Given the description of an element on the screen output the (x, y) to click on. 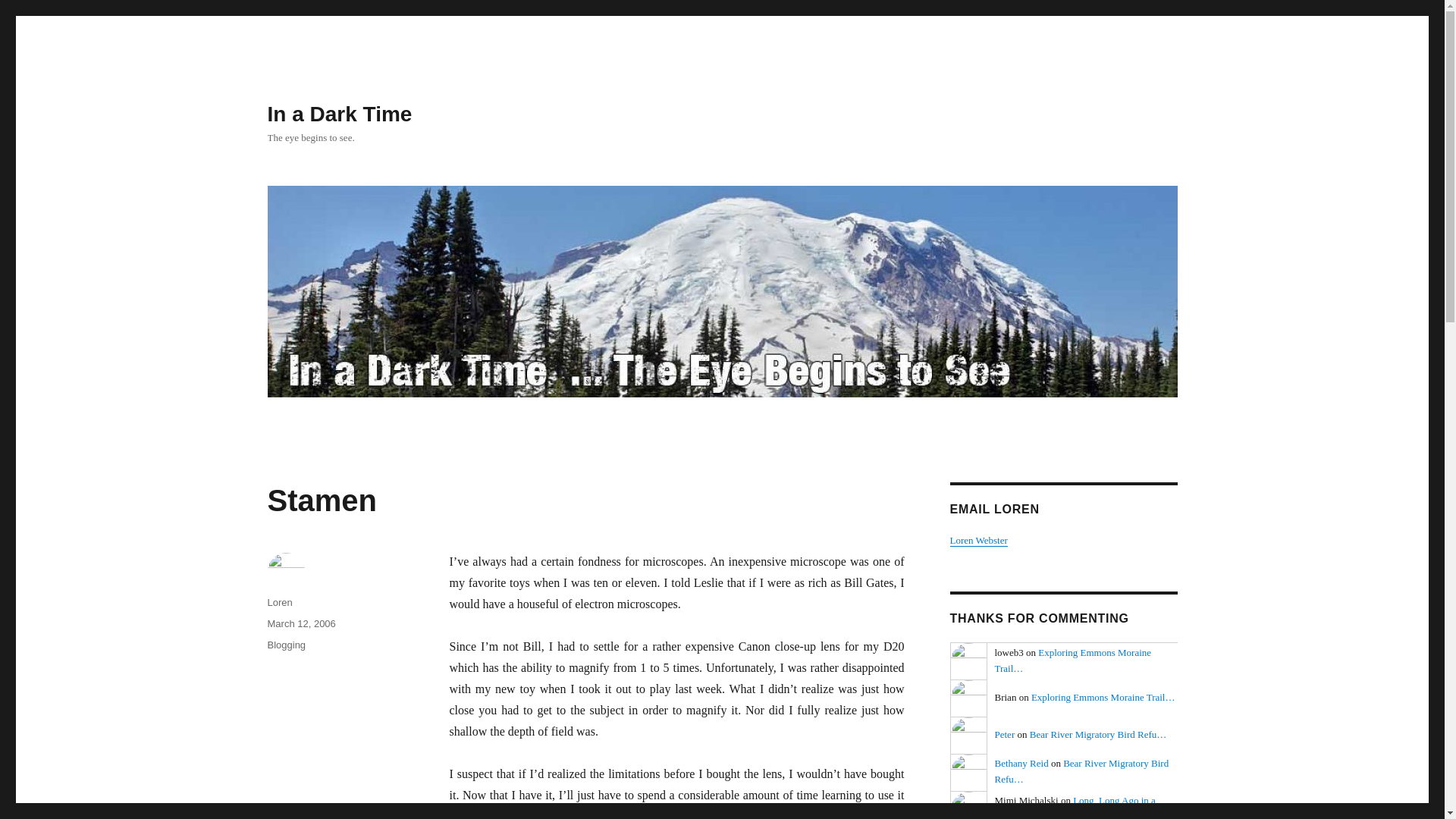
Loren (279, 602)
Bethany Reid (1021, 763)
Brian (968, 698)
Peter (968, 735)
In a Dark Time (339, 114)
Loren Webster (978, 540)
Bethany Reid (968, 772)
Peter (1004, 734)
loweb3 (968, 661)
Blogging (285, 644)
